Given the description of an element on the screen output the (x, y) to click on. 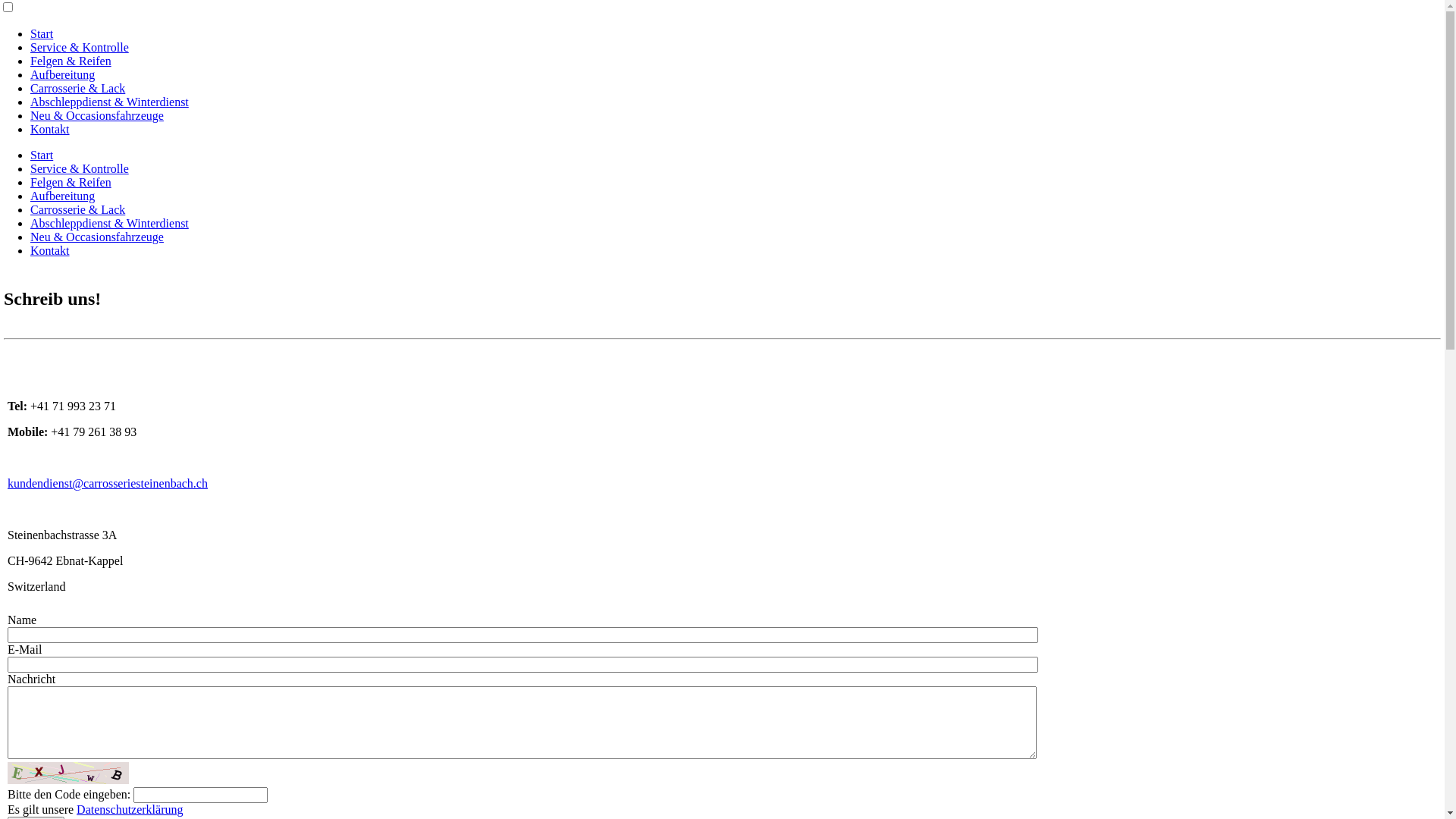
Abschleppdienst & Winterdienst Element type: text (109, 222)
Service & Kontrolle Element type: text (79, 46)
Abschleppdienst & Winterdienst Element type: text (109, 101)
Neu & Occasionsfahrzeuge Element type: text (96, 115)
Start Element type: text (41, 154)
Neu & Occasionsfahrzeuge Element type: text (96, 236)
Kontakt Element type: text (49, 250)
kundendienst@carrosseriesteinenbach.ch Element type: text (107, 482)
Kontakt Element type: text (49, 128)
Felgen & Reifen Element type: text (70, 181)
Aufbereitung Element type: text (62, 195)
Carrosserie & Lack Element type: text (77, 87)
Felgen & Reifen Element type: text (70, 60)
Aufbereitung Element type: text (62, 74)
Carrosserie & Lack Element type: text (77, 209)
Service & Kontrolle Element type: text (79, 168)
Start Element type: text (41, 33)
